Given the description of an element on the screen output the (x, y) to click on. 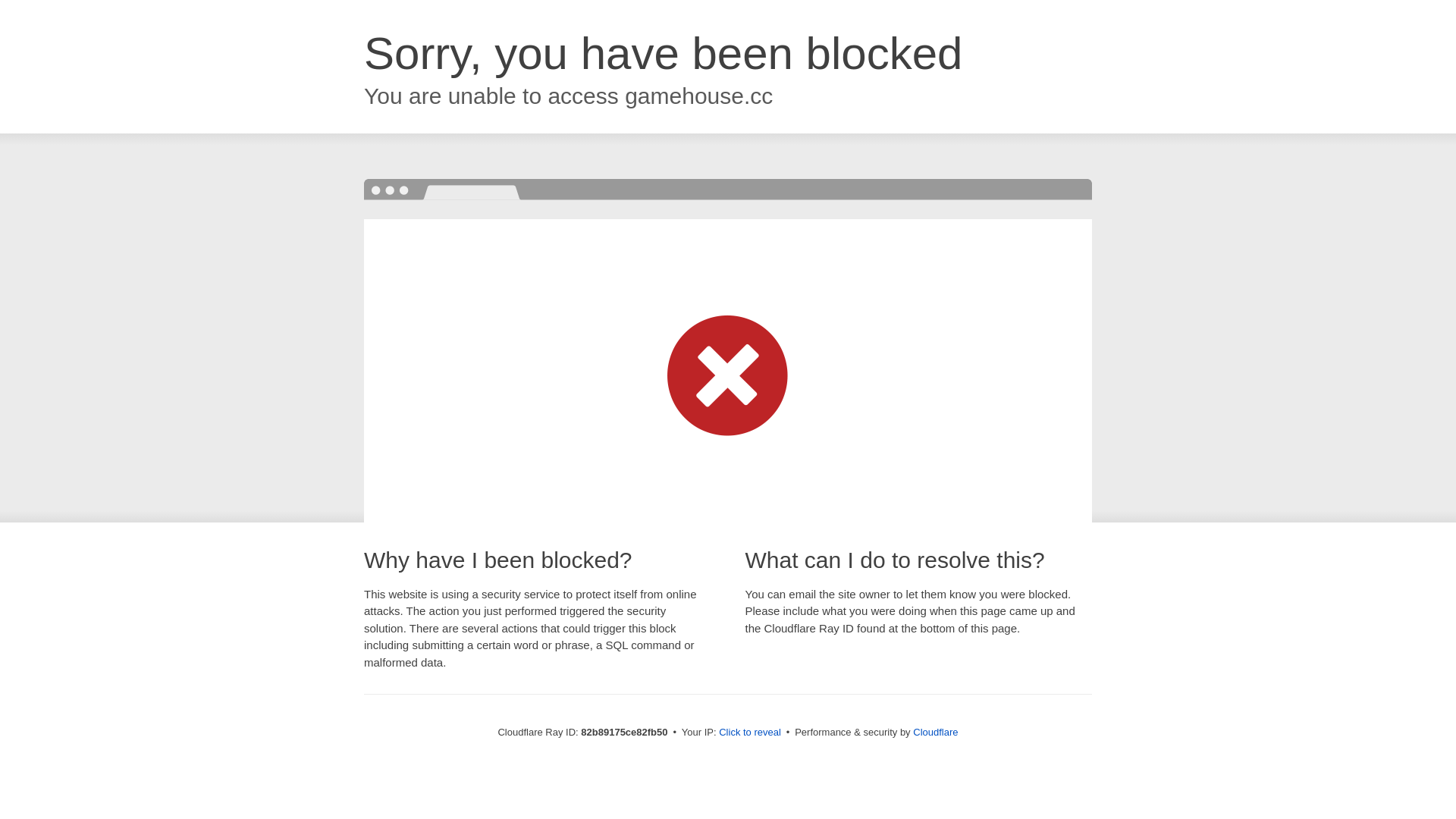
Click to reveal Element type: text (749, 732)
Cloudflare Element type: text (935, 731)
